Given the description of an element on the screen output the (x, y) to click on. 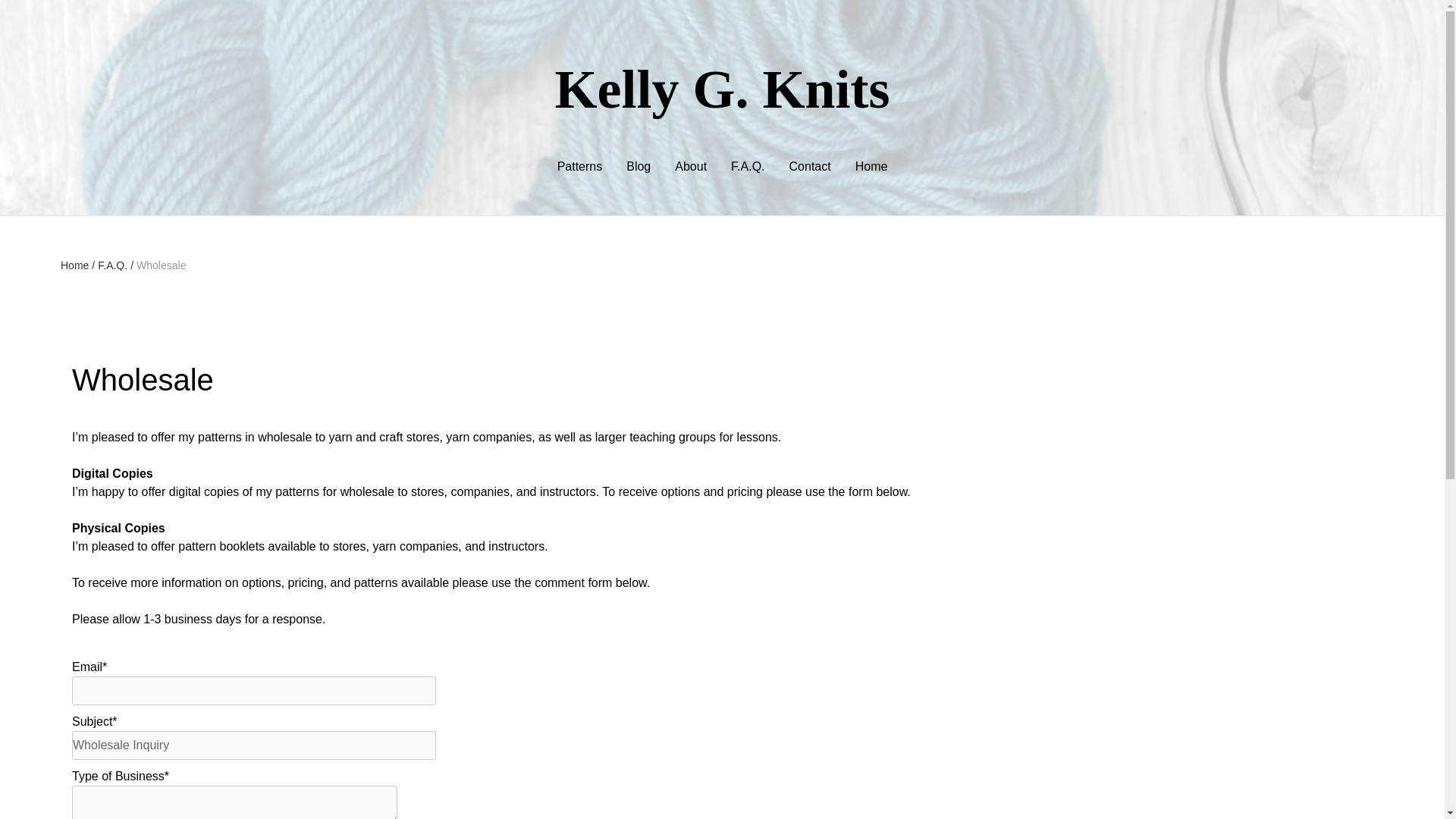
Kelly G. Knits (721, 89)
Patterns (579, 166)
Wholesale Inquiry (253, 745)
